Given the description of an element on the screen output the (x, y) to click on. 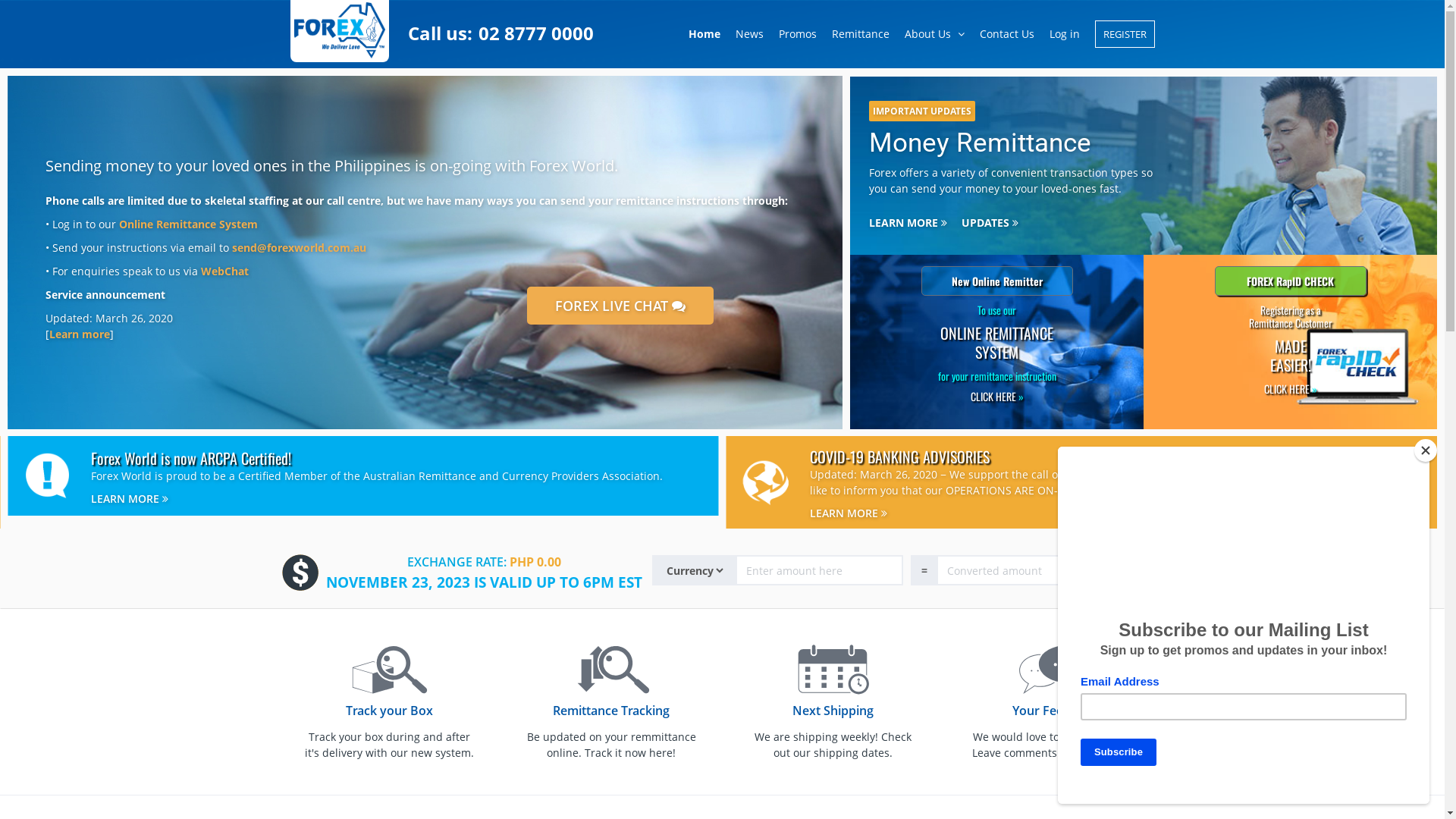
WebChat Element type: text (224, 270)
UPDATES Element type: text (995, 216)
Online Remittance System Element type: text (188, 223)
LEARN MORE Element type: text (848, 511)
LEARN MORE Element type: text (913, 216)
FOREX LIVE CHAT Element type: text (620, 305)
Promos Element type: text (796, 34)
Log in Element type: text (1064, 34)
News Element type: text (749, 34)
Remittance Element type: text (859, 34)
About Us Element type: text (933, 34)
Learn more Element type: text (79, 333)
Money Remittance Element type: text (982, 142)
LEARN MORE Element type: text (129, 496)
REGISTER Element type: text (1120, 34)
send@forexworld.com.au Element type: text (299, 247)
Home Element type: text (704, 34)
Contact Us Element type: text (1006, 34)
